Given the description of an element on the screen output the (x, y) to click on. 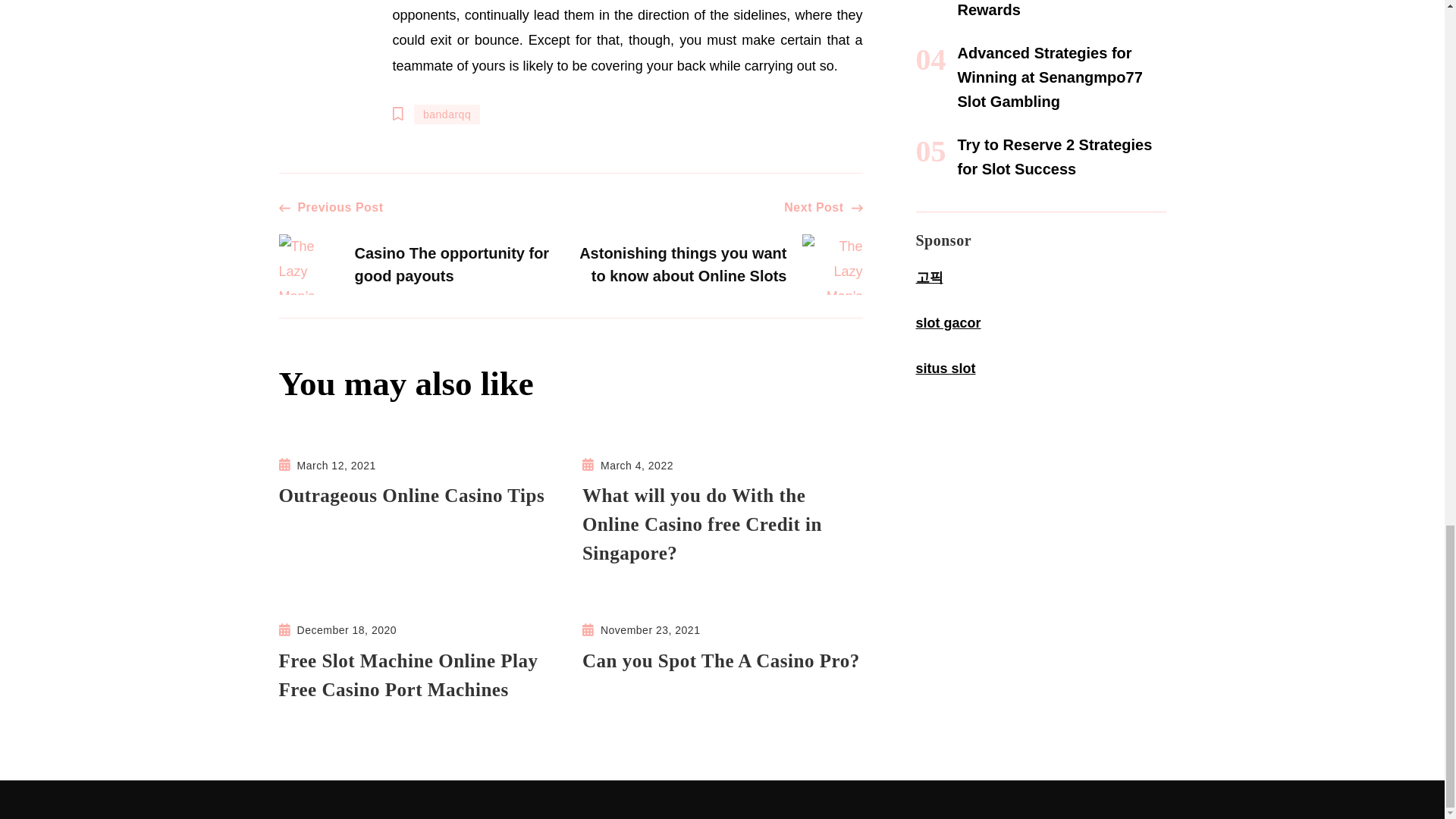
bandarqq (446, 114)
